Given the description of an element on the screen output the (x, y) to click on. 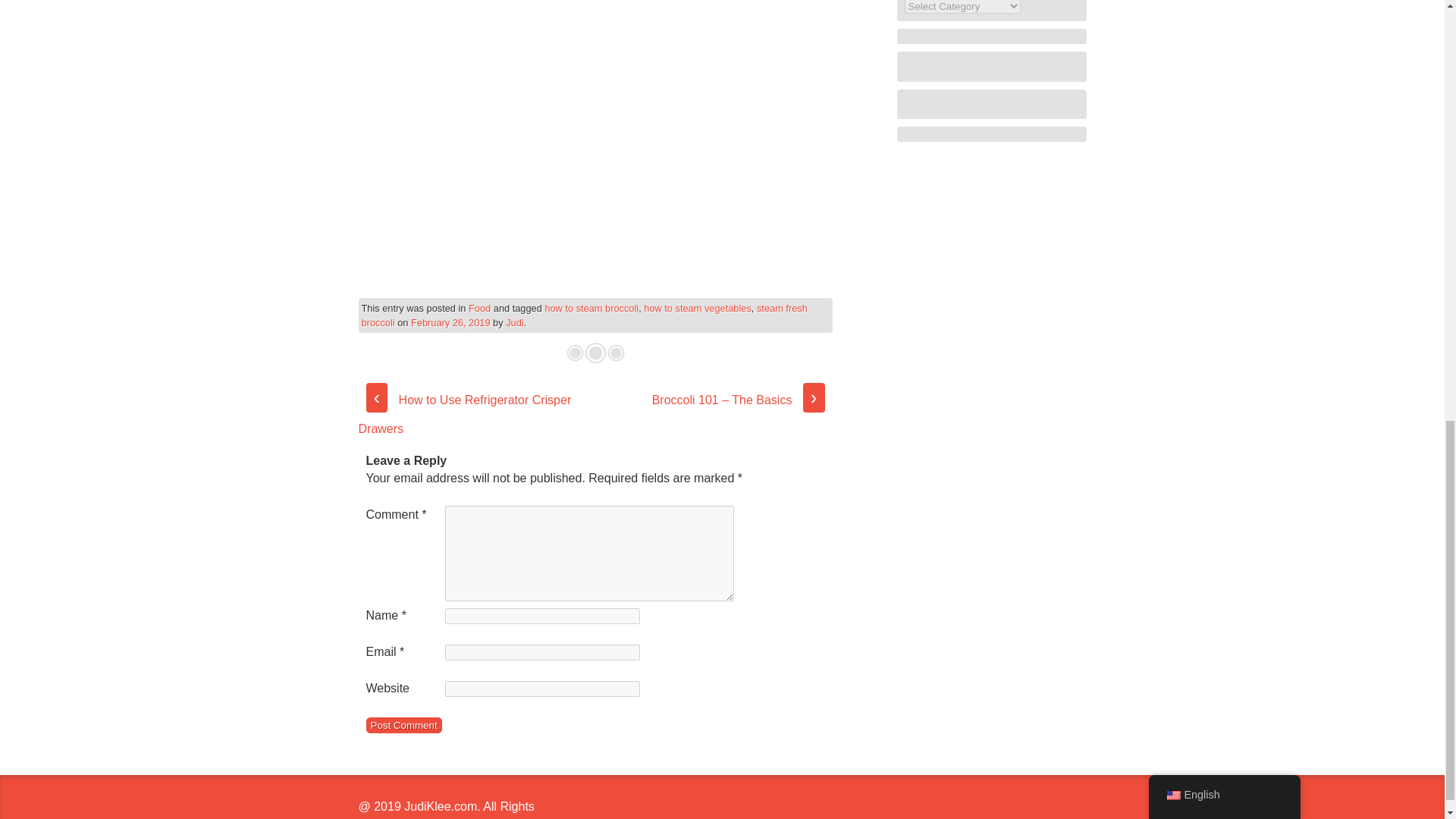
how to steam broccoli (591, 307)
Post Comment (403, 725)
steam fresh broccoli (583, 315)
Post Comment (403, 725)
Judi (513, 322)
February 26, 2019 (450, 322)
How to Steam Broccoli (594, 125)
Food (479, 307)
how to steam vegetables (697, 307)
7:03 am (450, 322)
View all posts by Judi (513, 322)
